Given the description of an element on the screen output the (x, y) to click on. 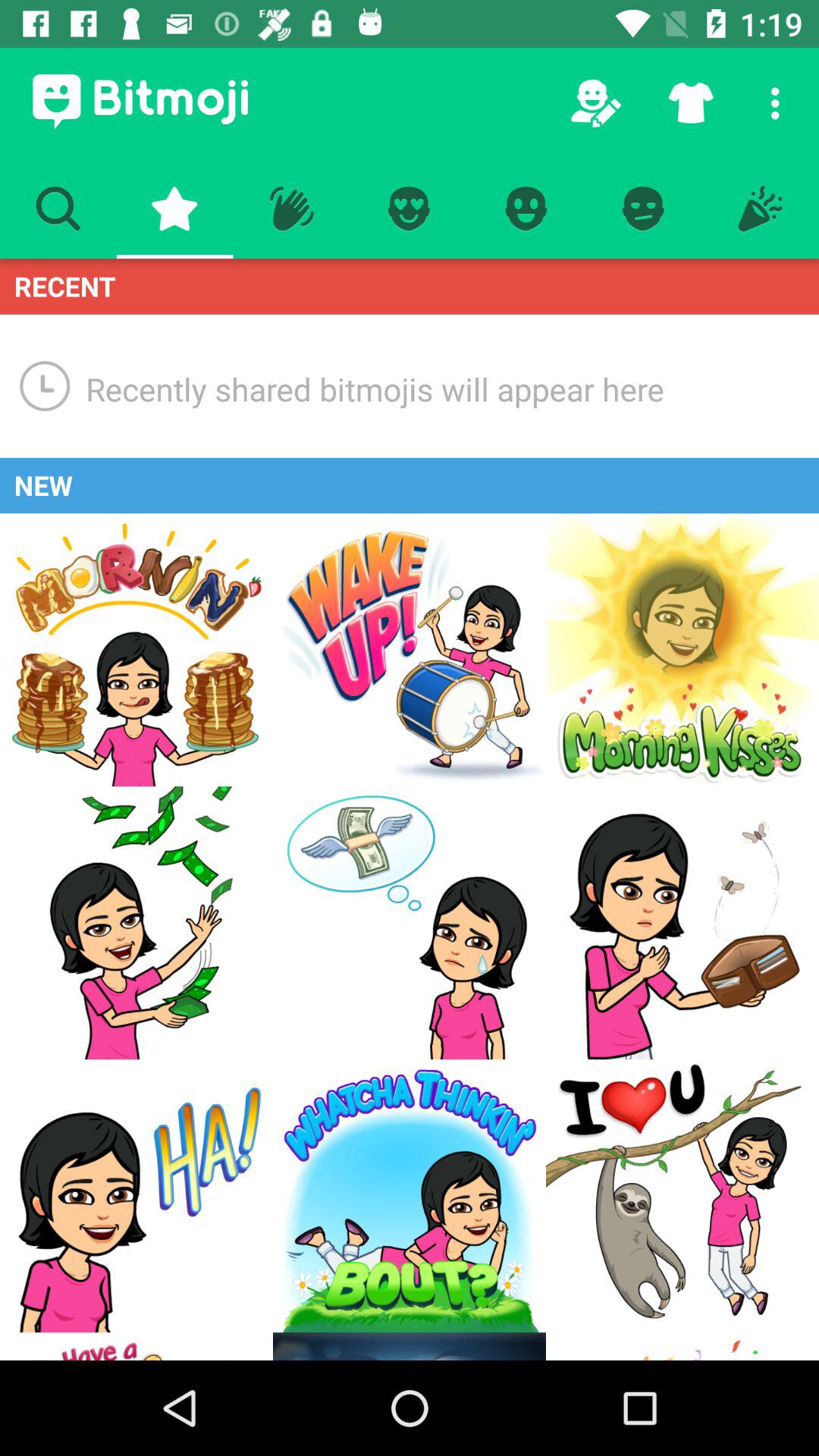
use emoji (409, 1195)
